Given the description of an element on the screen output the (x, y) to click on. 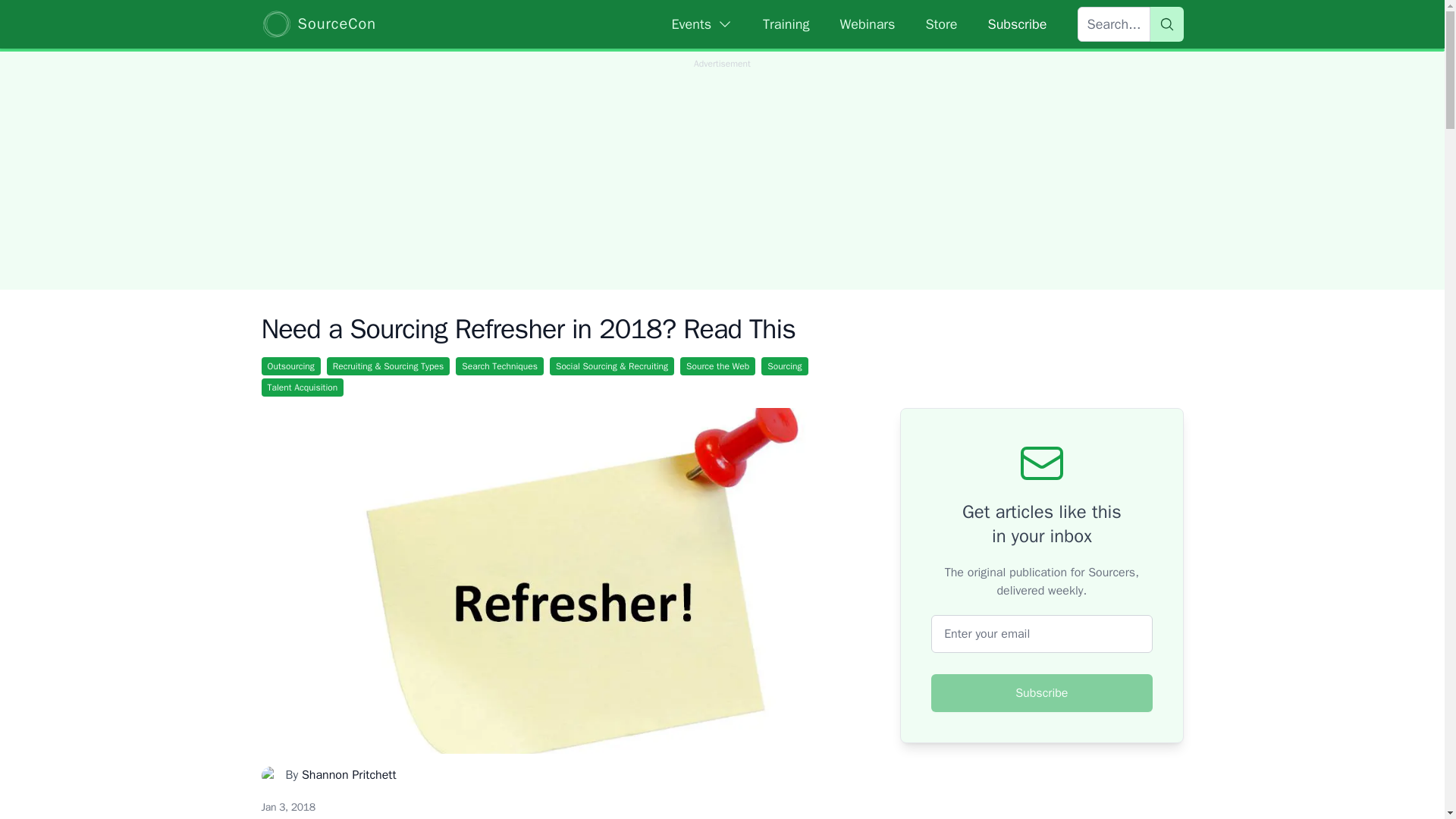
Events (702, 24)
Sourcing (784, 366)
Search Techniques (499, 366)
SourceCon (317, 24)
Shannon Pritchett (348, 774)
Source the Web (717, 366)
Webinars (867, 24)
Store (940, 24)
Training (785, 24)
Outsourcing (290, 366)
